Given the description of an element on the screen output the (x, y) to click on. 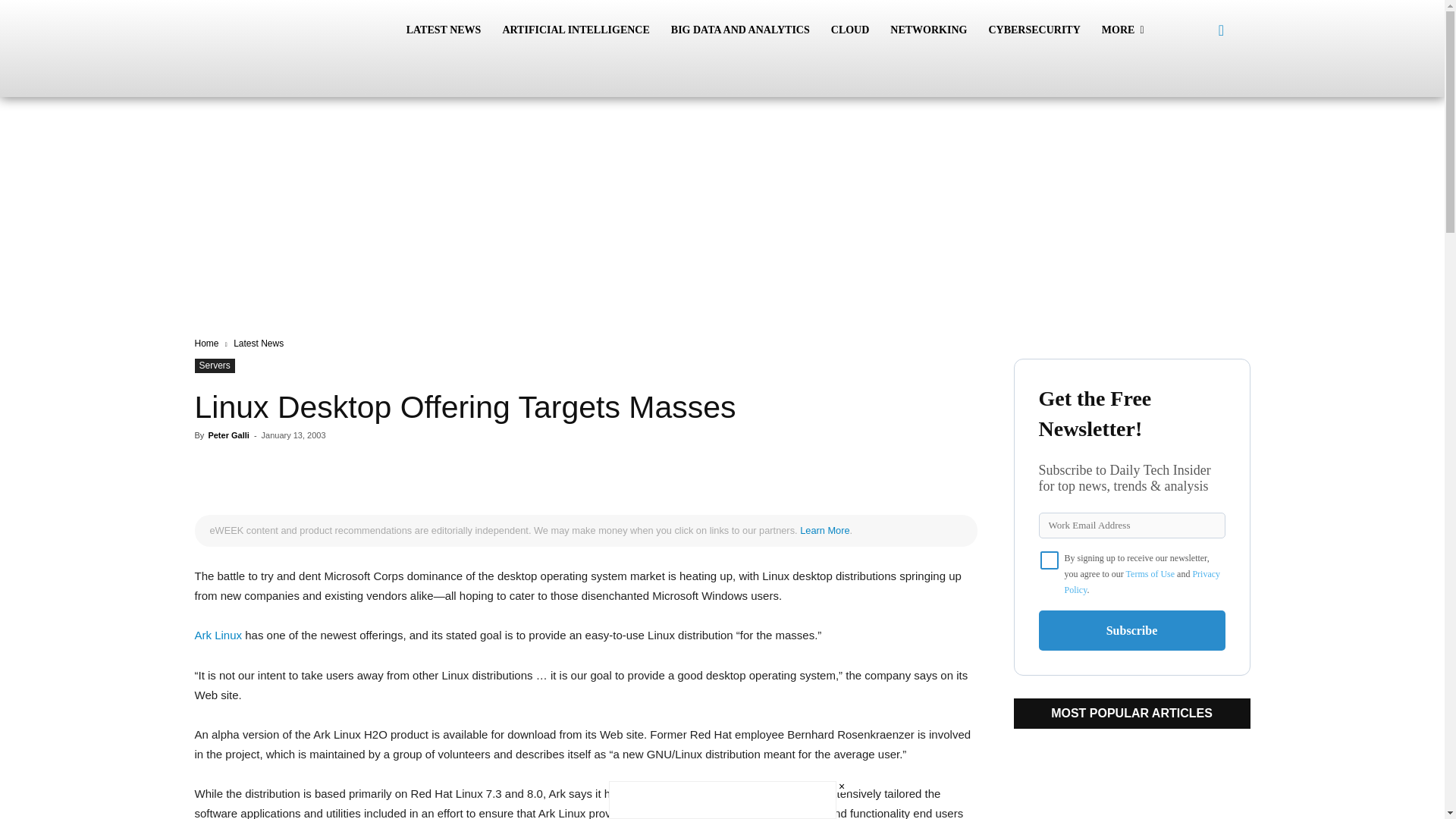
NETWORKING (927, 30)
on (1049, 560)
CYBERSECURITY (1033, 30)
BIG DATA AND ANALYTICS (741, 30)
LATEST NEWS (444, 30)
CLOUD (850, 30)
ARTIFICIAL INTELLIGENCE (575, 30)
